Given the description of an element on the screen output the (x, y) to click on. 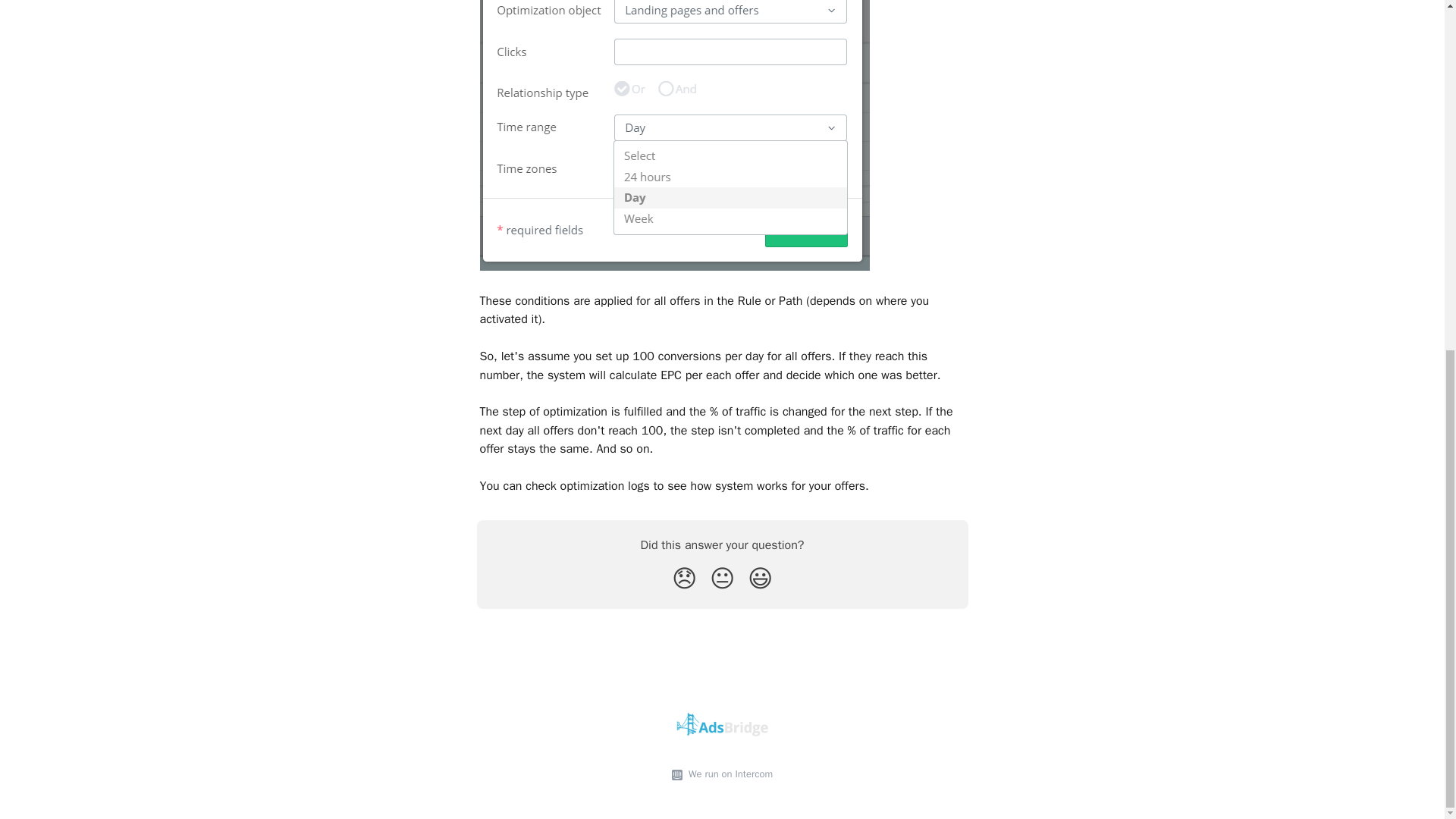
Neutral (722, 578)
Disappointed (684, 578)
We run on Intercom (727, 774)
Smiley (760, 578)
